Given the description of an element on the screen output the (x, y) to click on. 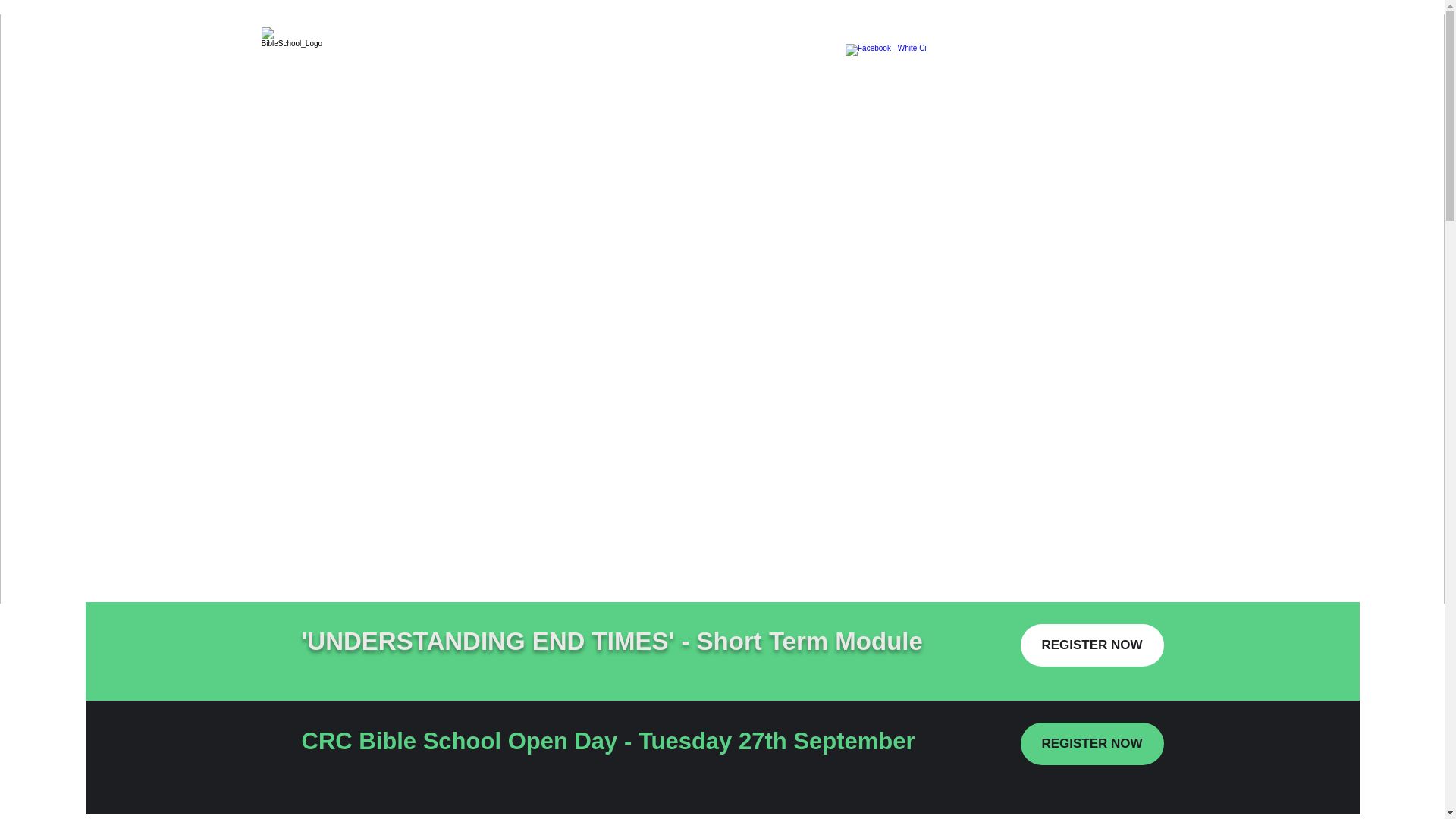
REGISTER NOW (1091, 743)
REGISTER NOW (1091, 645)
CURRICULUM (987, 57)
ADMISSIONS (1082, 57)
HOME (910, 57)
